Given the description of an element on the screen output the (x, y) to click on. 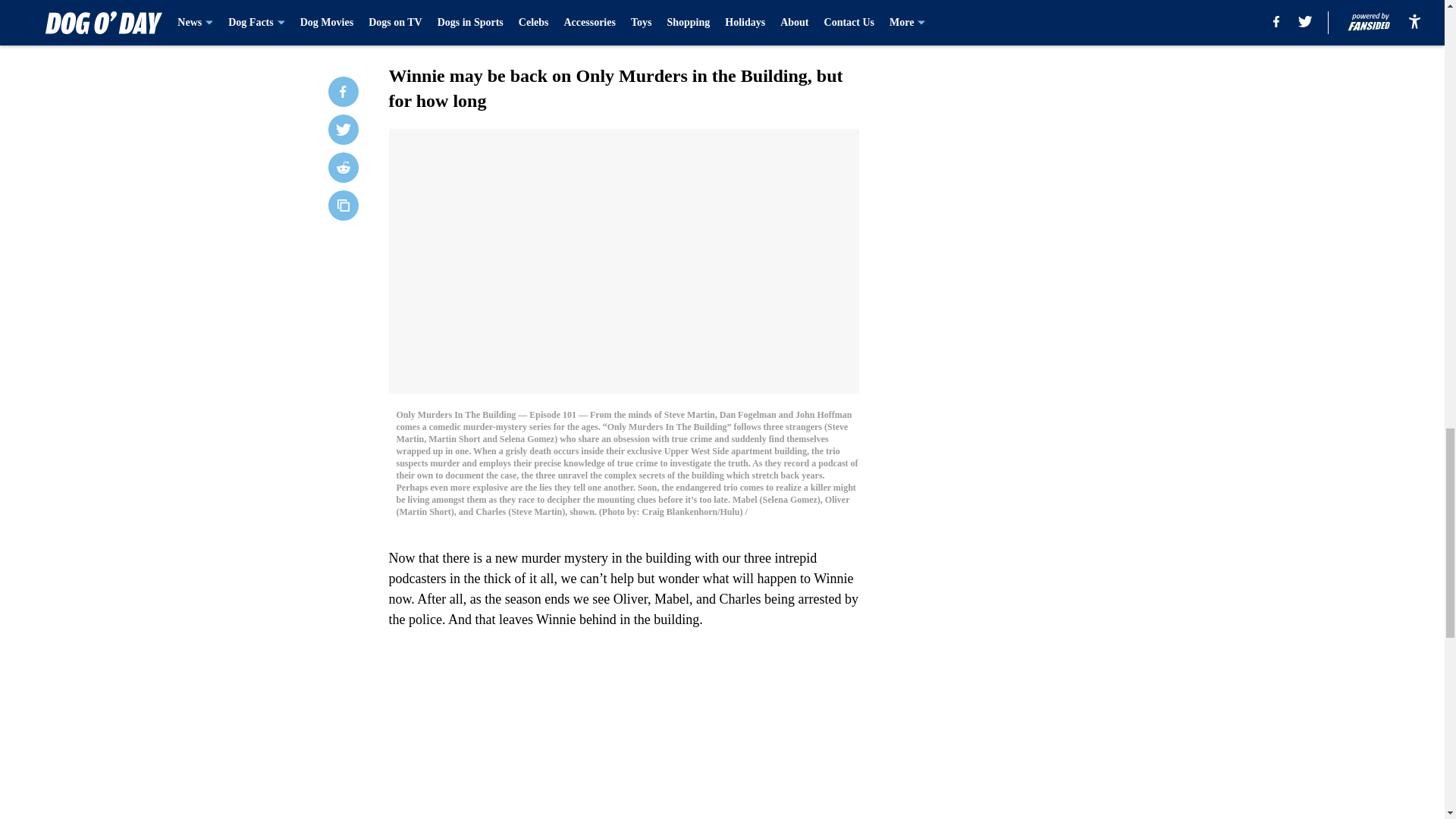
Season 1 (553, 17)
